Given the description of an element on the screen output the (x, y) to click on. 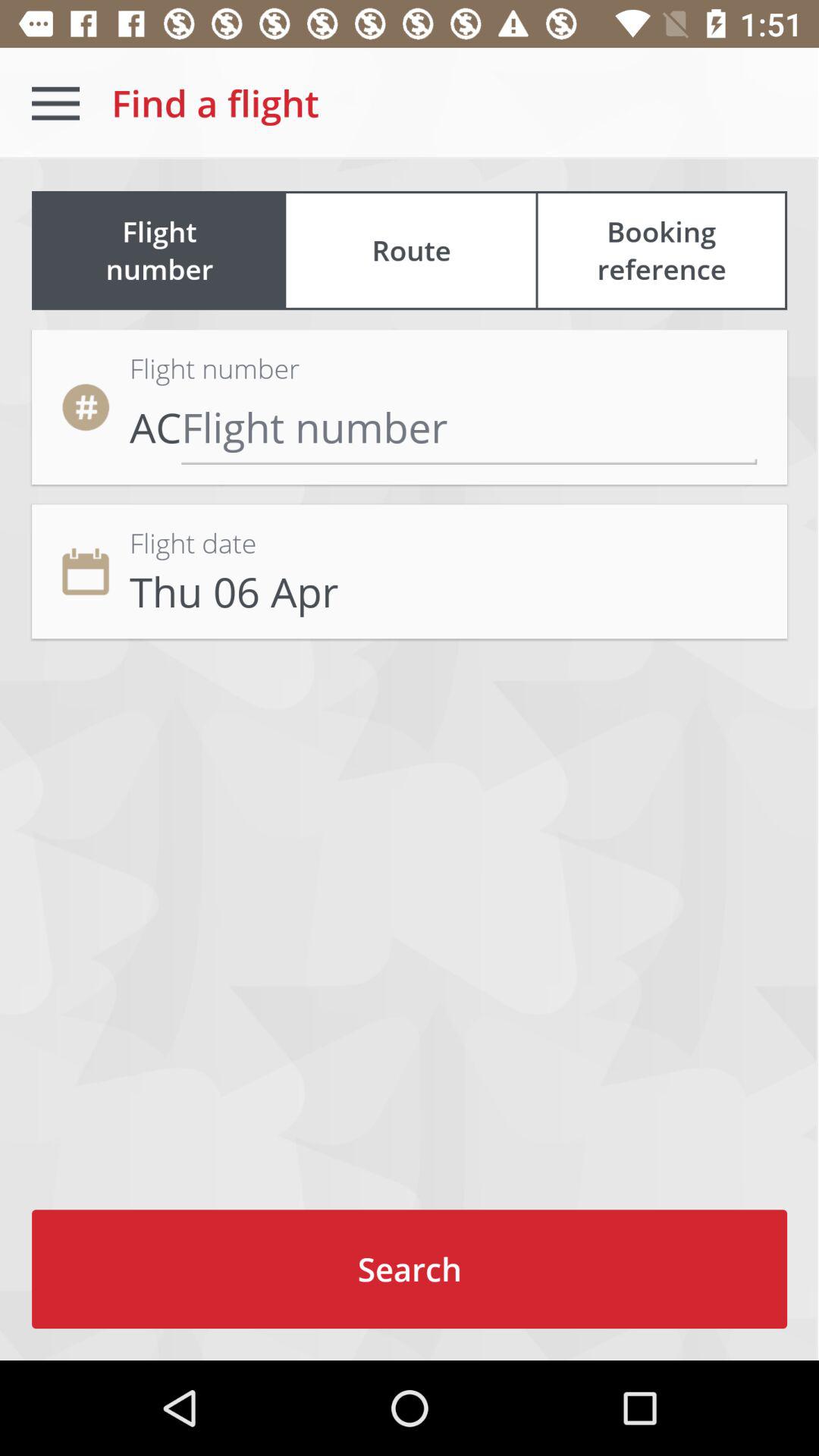
swipe until the route item (411, 250)
